Given the description of an element on the screen output the (x, y) to click on. 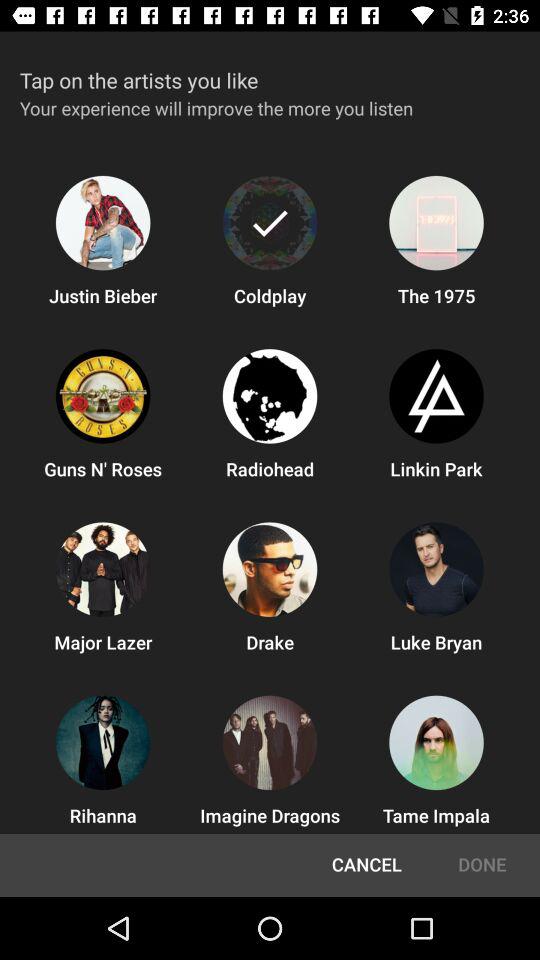
select the item to the right of rihanna (366, 865)
